Given the description of an element on the screen output the (x, y) to click on. 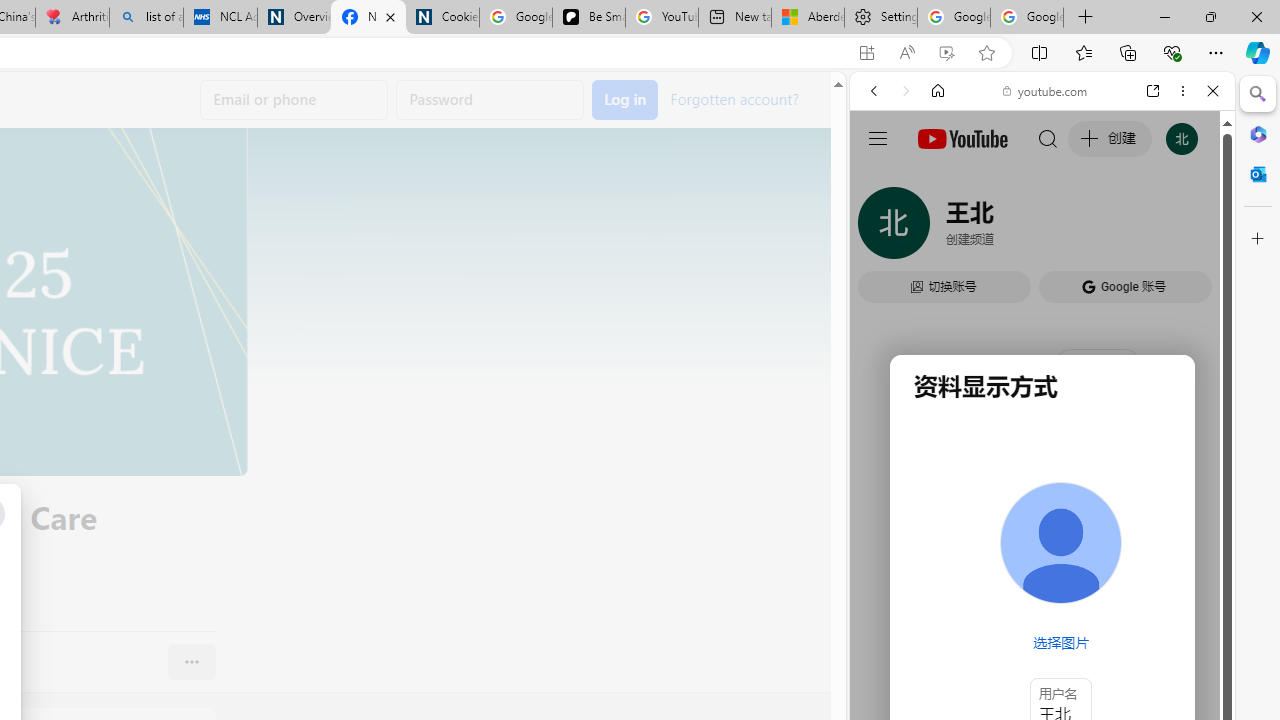
Cookies (441, 17)
